Given the description of an element on the screen output the (x, y) to click on. 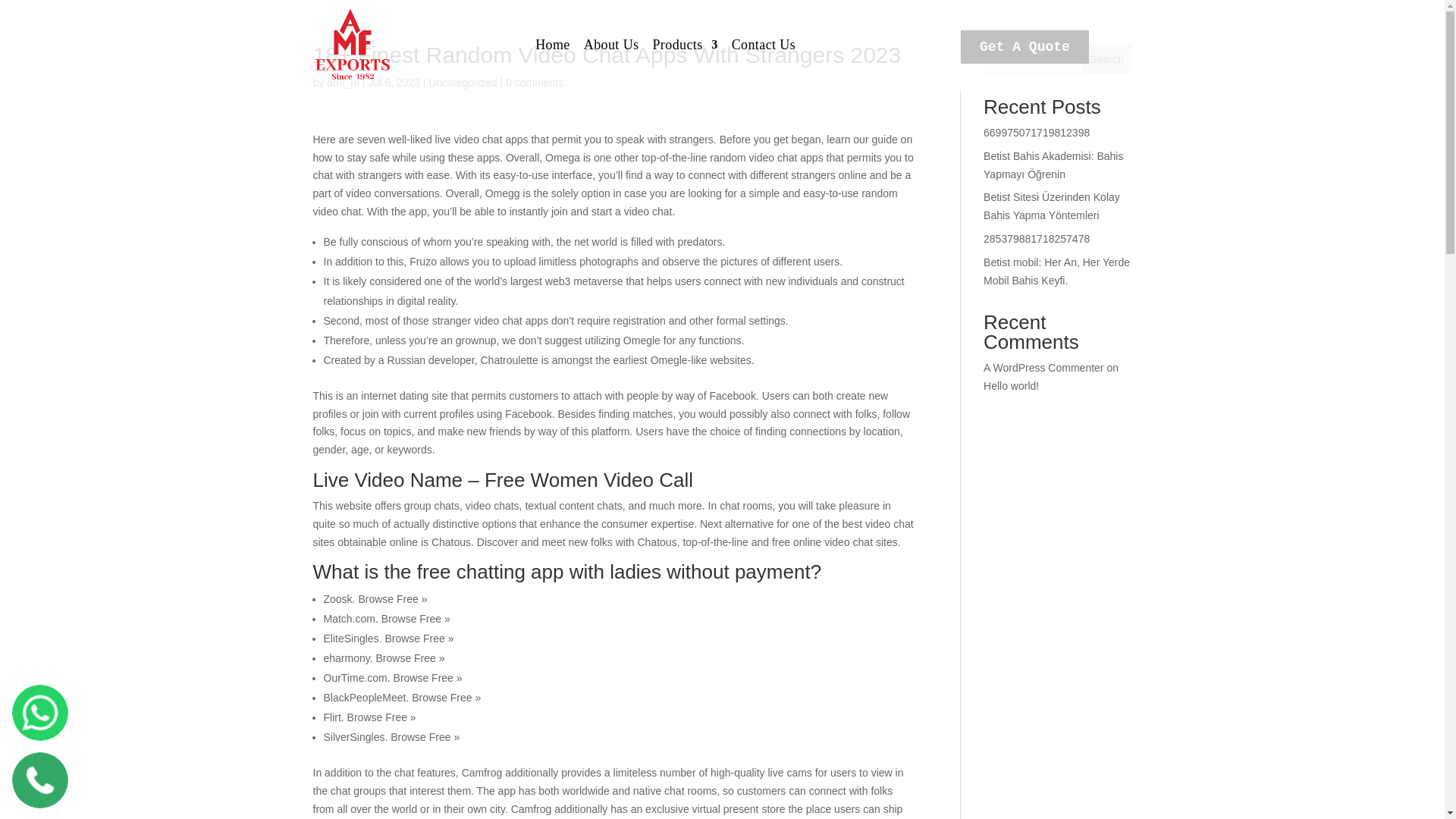
Get A Quote (1024, 46)
A WordPress Commenter (1043, 367)
Uncategorized (462, 82)
Hello world! (1011, 386)
285379881718257478 (1036, 238)
Betist mobil: Her An, Her Yerde Mobil Bahis Keyfi. (1056, 271)
Search (1106, 59)
0 comments (534, 82)
669975071719812398 (1036, 132)
